Given the description of an element on the screen output the (x, y) to click on. 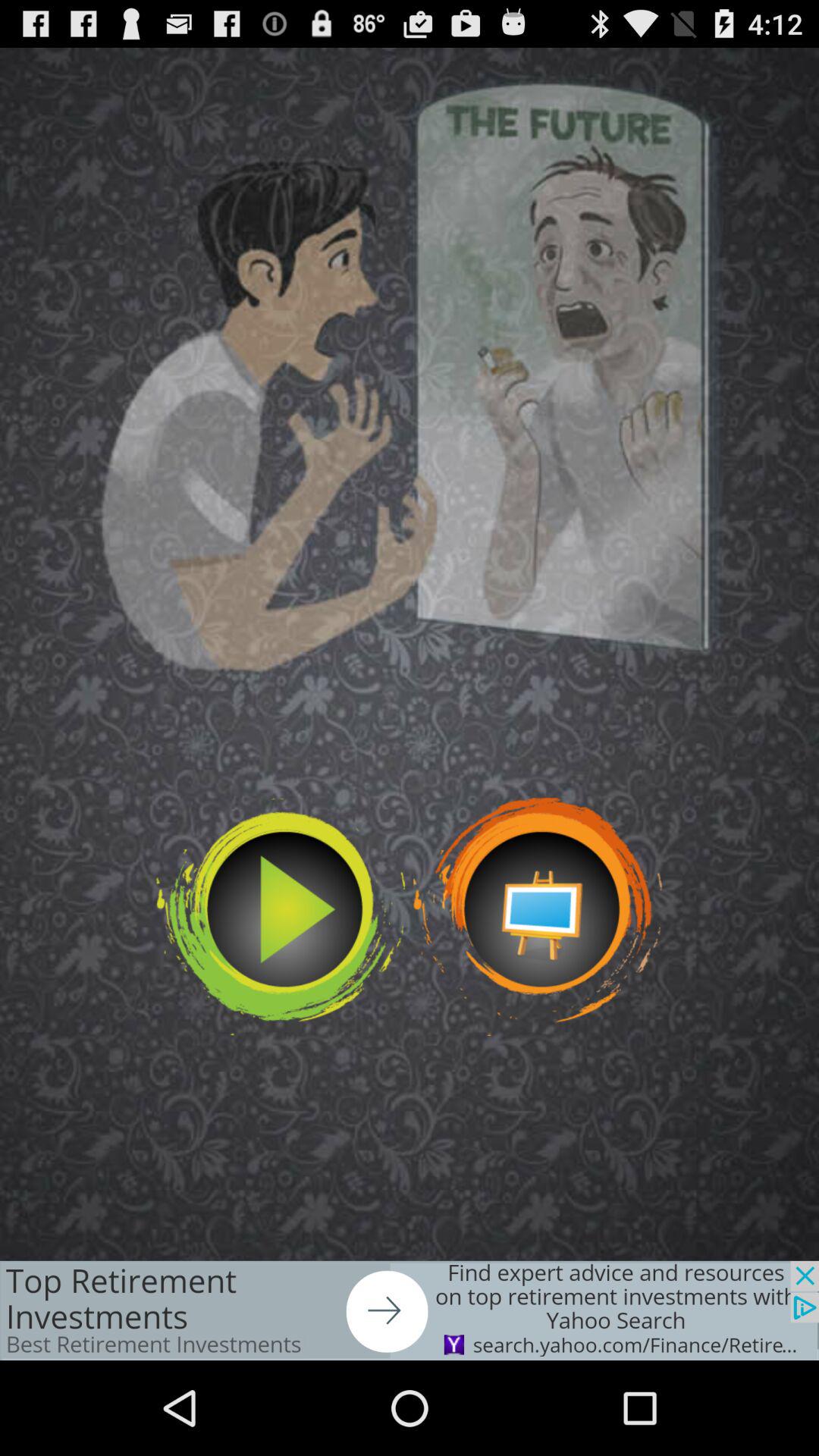
arrow option (409, 1310)
